Given the description of an element on the screen output the (x, y) to click on. 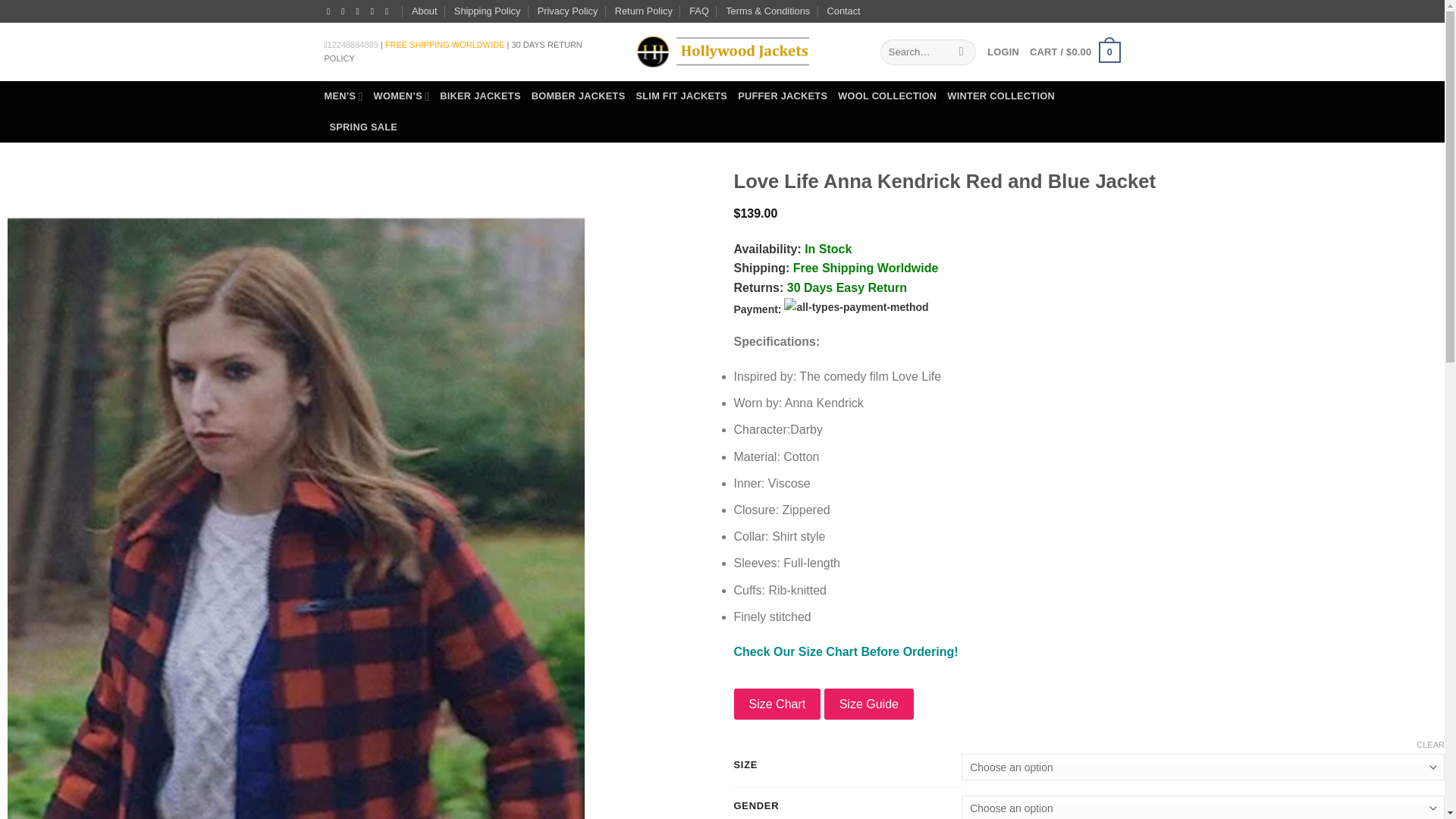
Privacy Policy (567, 11)
Contact (843, 11)
Search (961, 52)
12248884889 (352, 44)
Hollywood Jackets - Hollywood Jackets (721, 52)
LOGIN (1003, 51)
Return Policy (643, 11)
Shipping Policy (487, 11)
Cart (1074, 52)
